Given the description of an element on the screen output the (x, y) to click on. 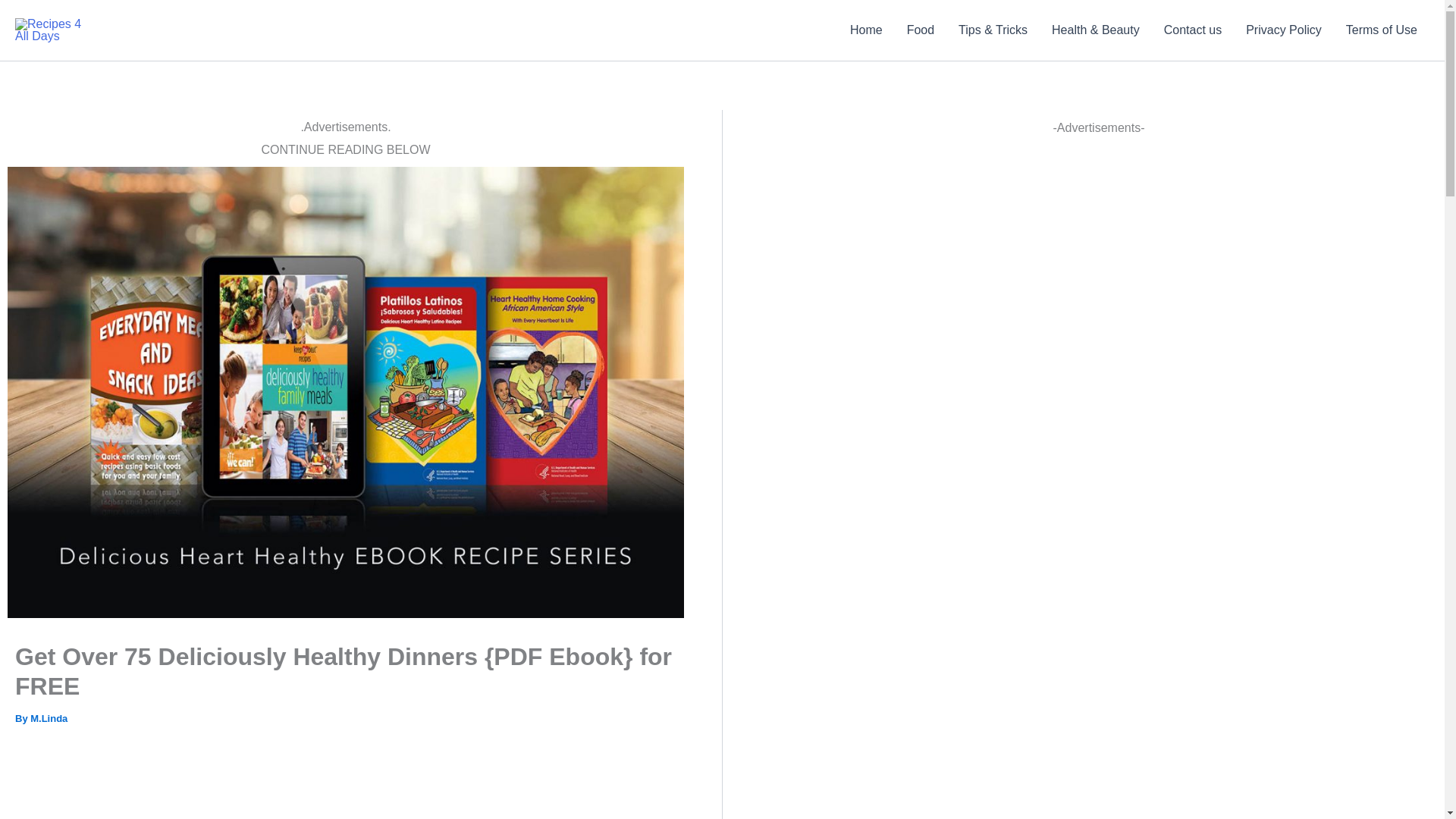
Home (866, 30)
View all posts by M.Linda (48, 717)
Contact us (1192, 30)
Privacy Policy (1283, 30)
Terms of Use (1381, 30)
M.Linda (48, 717)
